Given the description of an element on the screen output the (x, y) to click on. 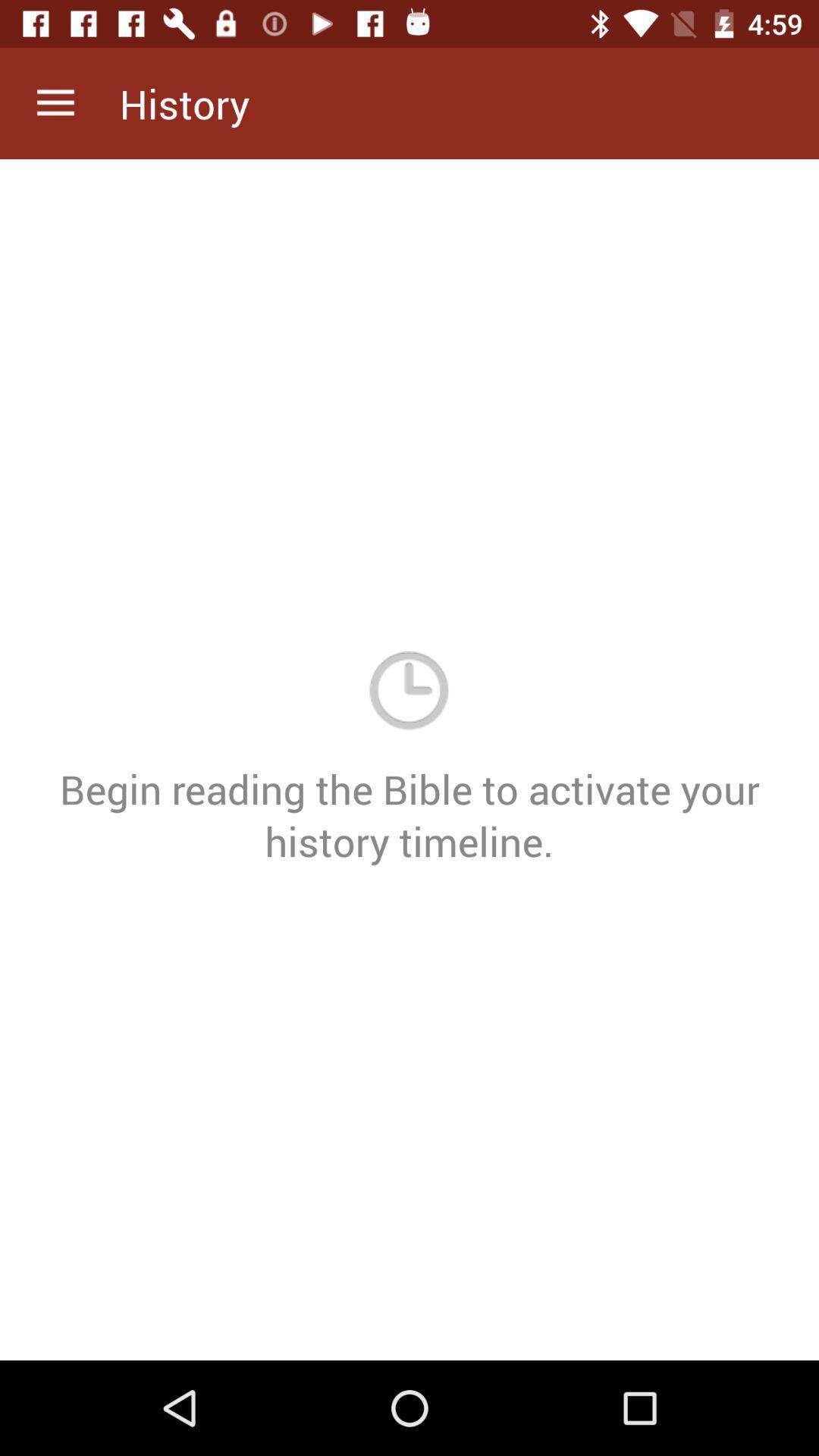
select the icon above the begin reading the icon (55, 103)
